Given the description of an element on the screen output the (x, y) to click on. 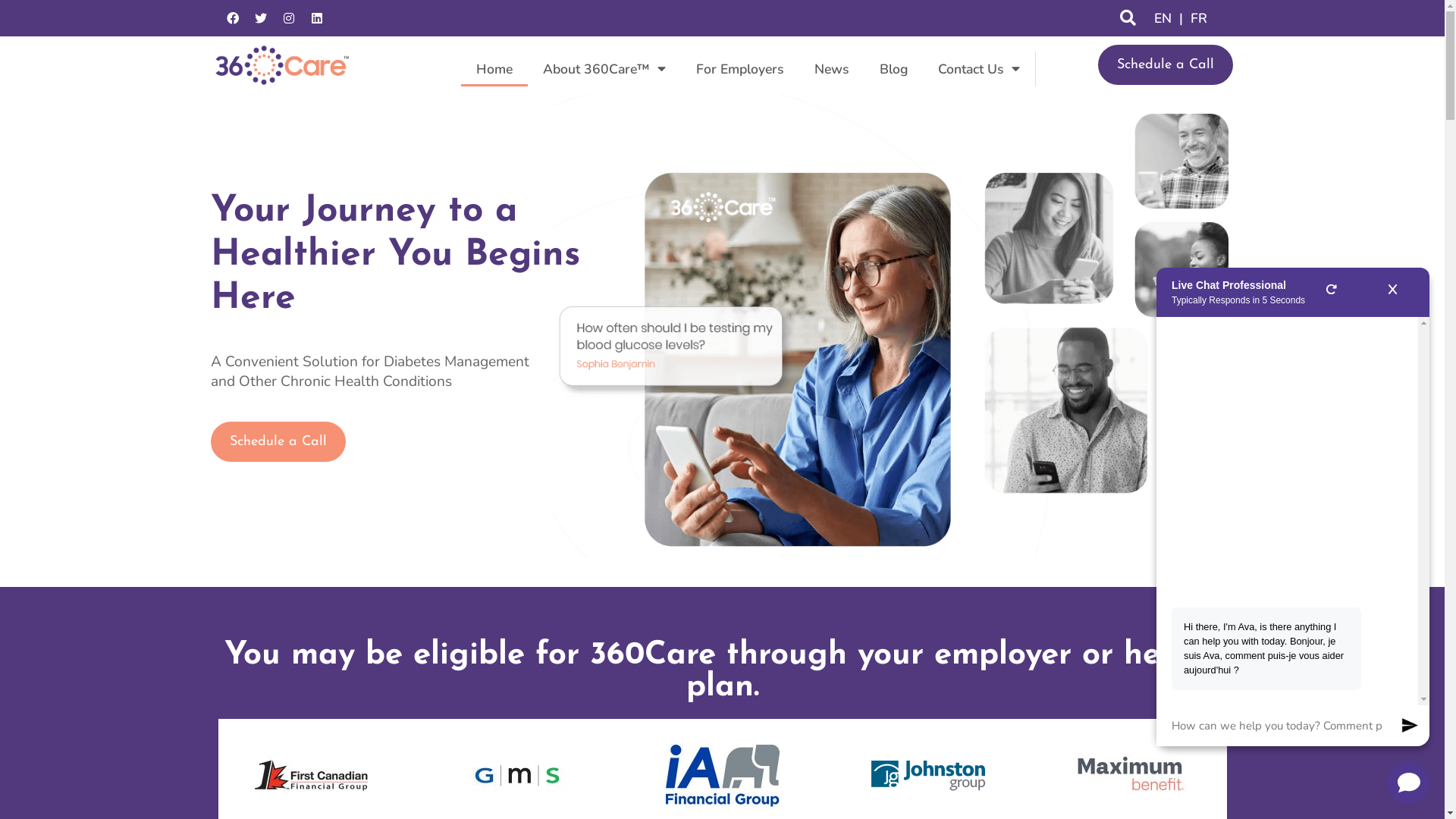
| Element type: text (1180, 17)
For Employers Element type: text (739, 68)
Contact Us Element type: text (978, 68)
Blog Element type: text (893, 68)
Schedule a Call Element type: text (277, 441)
EN Element type: text (1162, 17)
Home Element type: text (494, 68)
FR Element type: text (1198, 17)
Schedule a Call Element type: text (1165, 64)
News Element type: text (831, 68)
Reset Conversation Element type: hover (1330, 292)
Close Element type: hover (1392, 292)
